Given the description of an element on the screen output the (x, y) to click on. 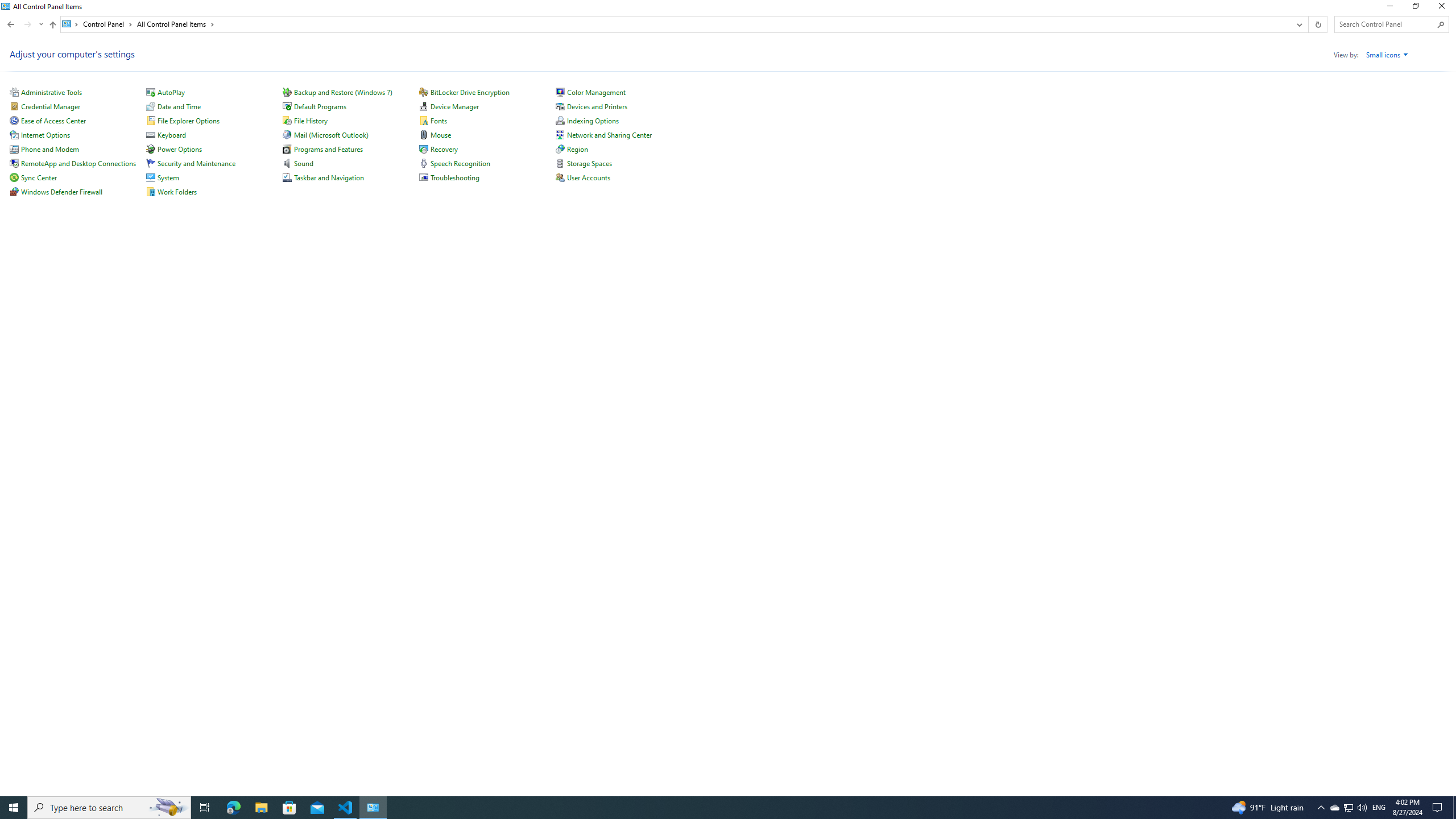
Keyboard (171, 135)
RemoteApp and Desktop Connections (78, 162)
Fonts (438, 120)
Previous Locations (1298, 23)
Speech Recognition (460, 162)
Default Programs (319, 106)
Running applications (706, 807)
Date and Time (178, 106)
Minimize (1388, 8)
Work Folders (176, 191)
